Given the description of an element on the screen output the (x, y) to click on. 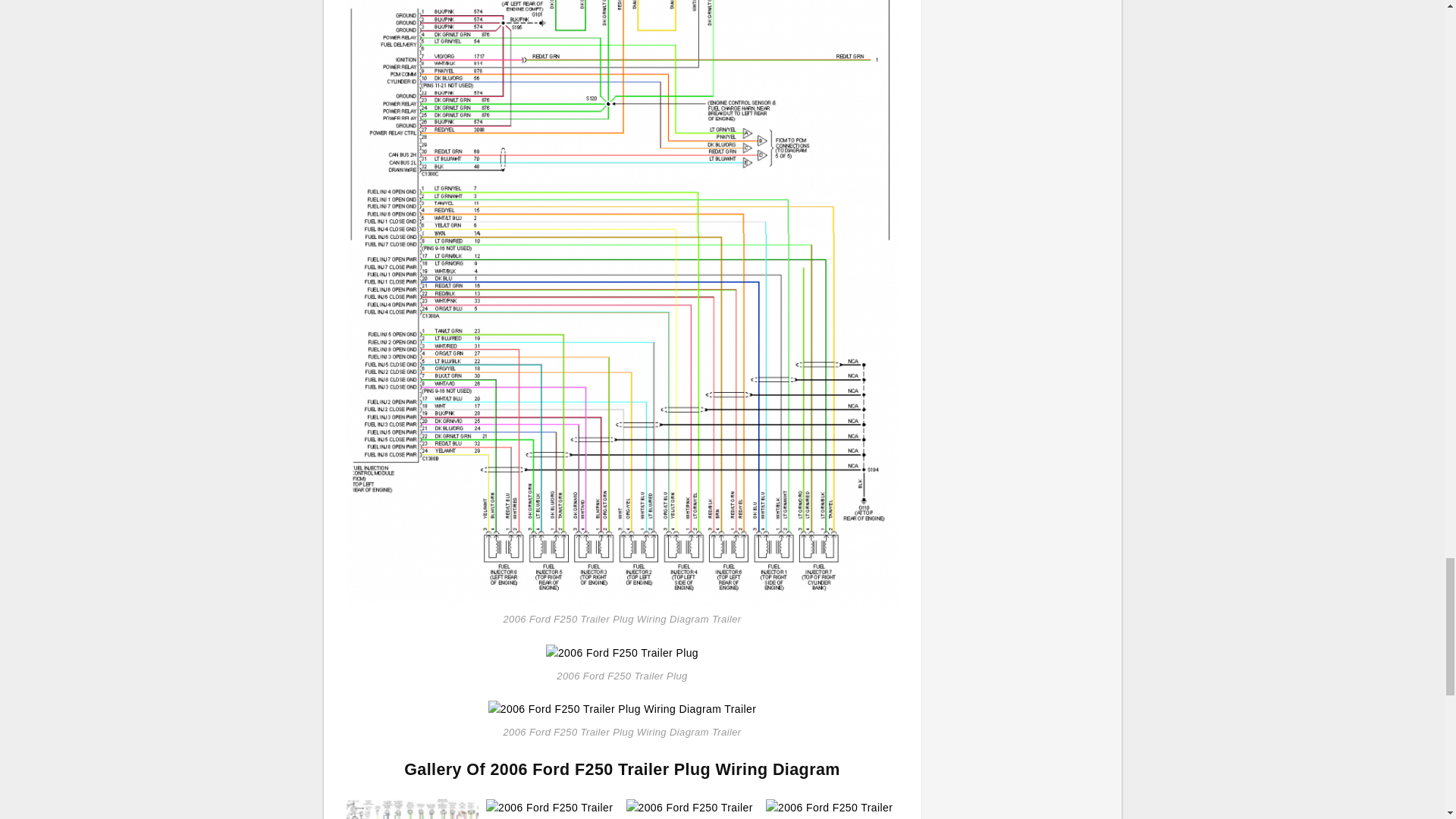
2006 Ford F250 Trailer Plug Wiring Diagram Trailer (622, 243)
2006 Ford F250 Trailer Plug (622, 652)
2006 Ford F250 Trailer Plug Wiring Diagram Trailer (412, 809)
2006 Ford F250 Trailer Plug Wiring Diagram Trailer (621, 708)
2006 Ford F250 Trailer Plug Wiring Diagram Trailer (621, 709)
2006 Ford F250 Trailer Plug (622, 652)
